Given the description of an element on the screen output the (x, y) to click on. 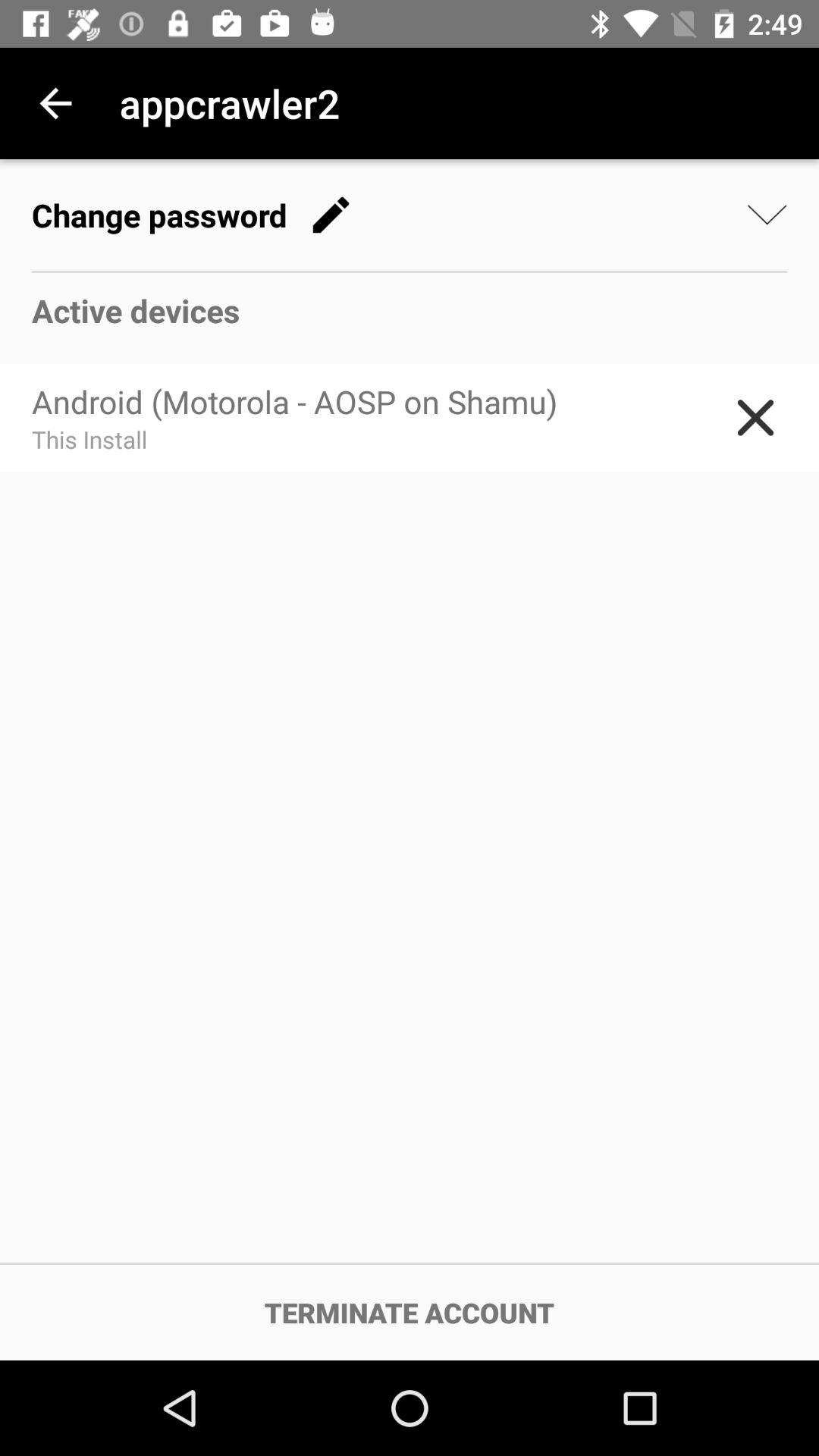
turn off icon next to android motorola aosp item (755, 417)
